Given the description of an element on the screen output the (x, y) to click on. 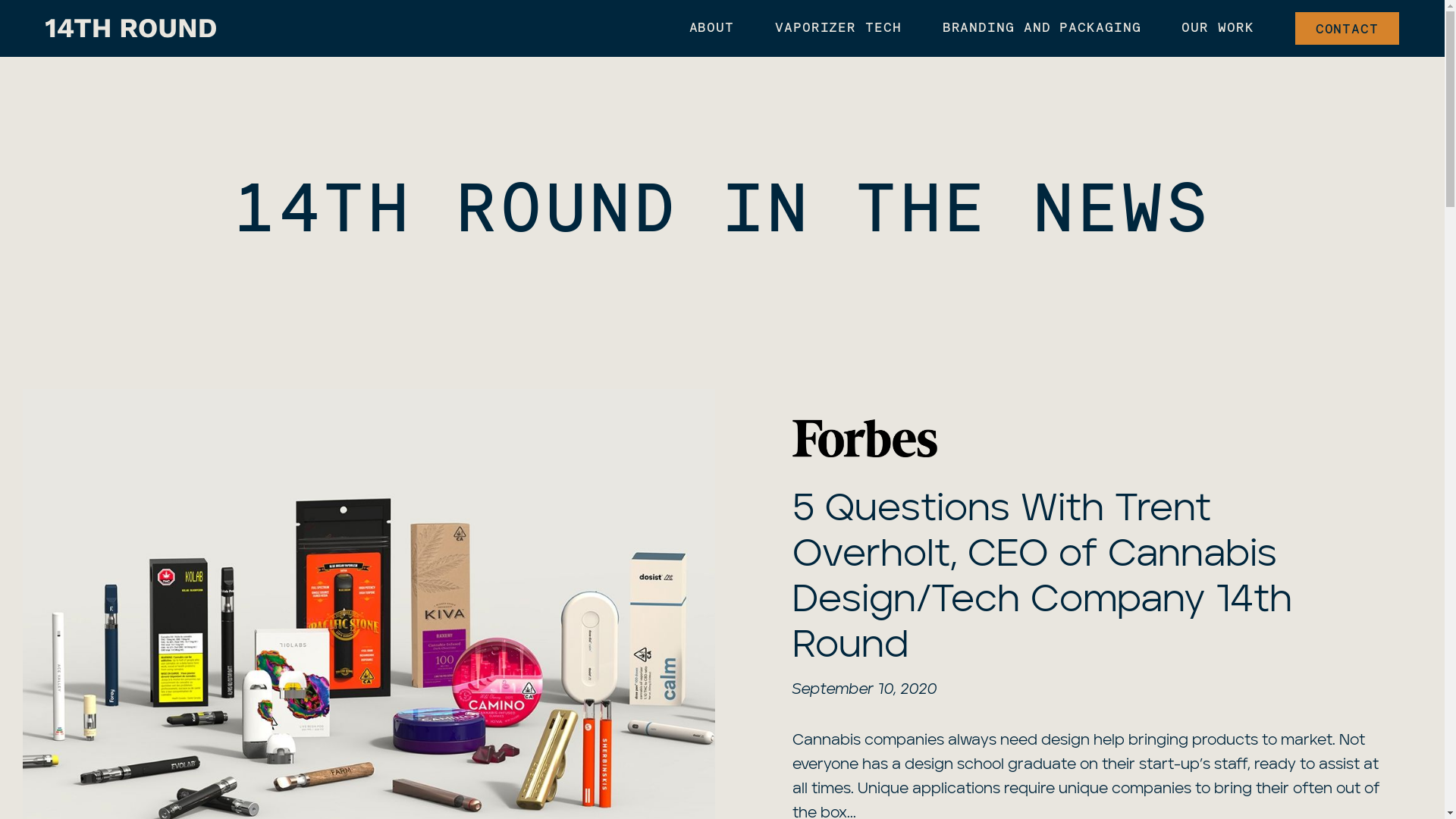
ABOUT Element type: text (711, 28)
CONTACT Element type: text (1347, 27)
VAPORIZER TECH Element type: text (838, 28)
BRANDING AND PACKAGING Element type: text (1041, 28)
OUR WORK Element type: text (1217, 28)
